Given the description of an element on the screen output the (x, y) to click on. 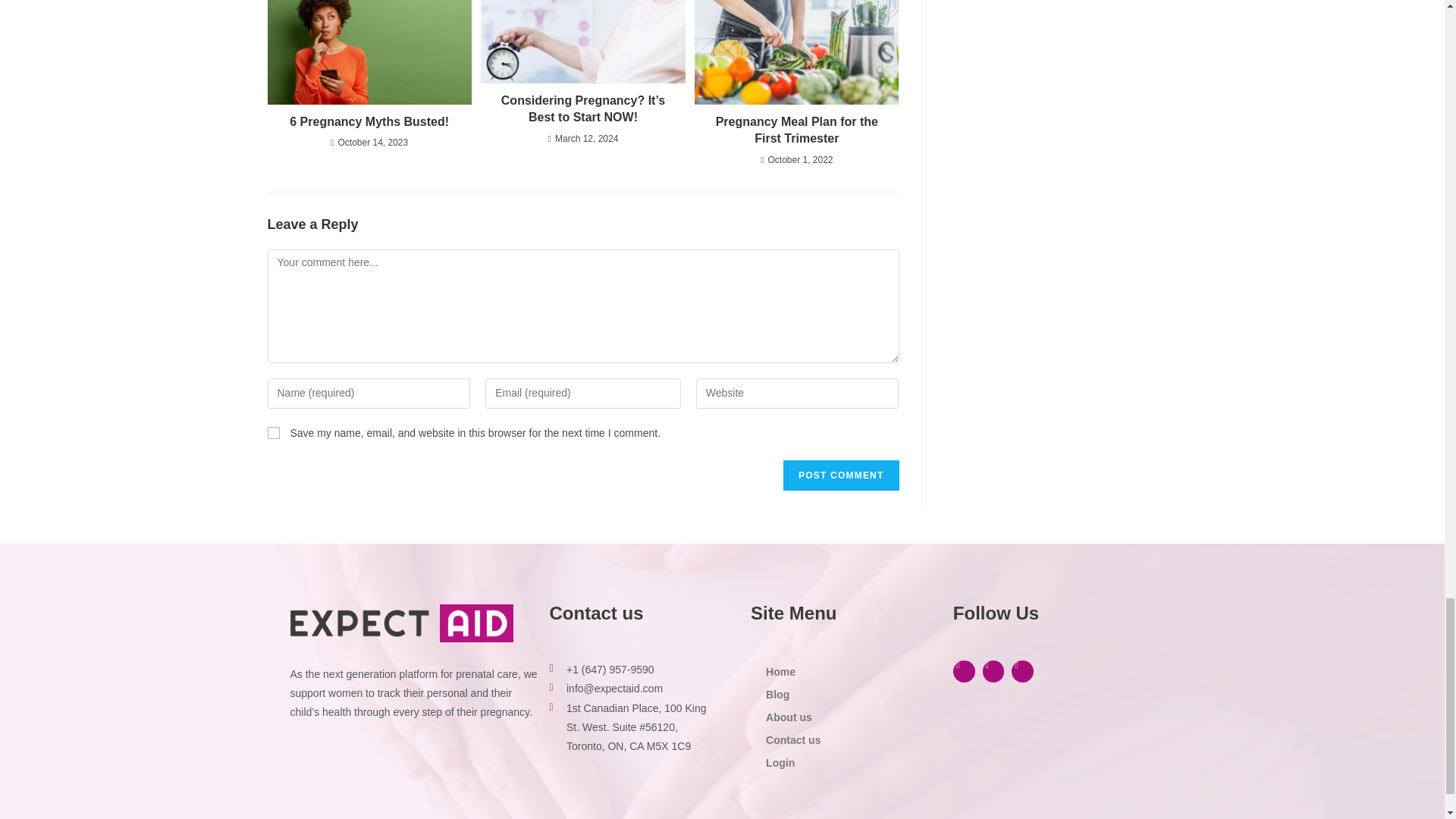
6 Pregnancy Myths Busted! (368, 121)
Pregnancy Meal Plan for the First Trimester (796, 130)
Post Comment (840, 475)
yes (272, 432)
Post Comment (840, 475)
